Given the description of an element on the screen output the (x, y) to click on. 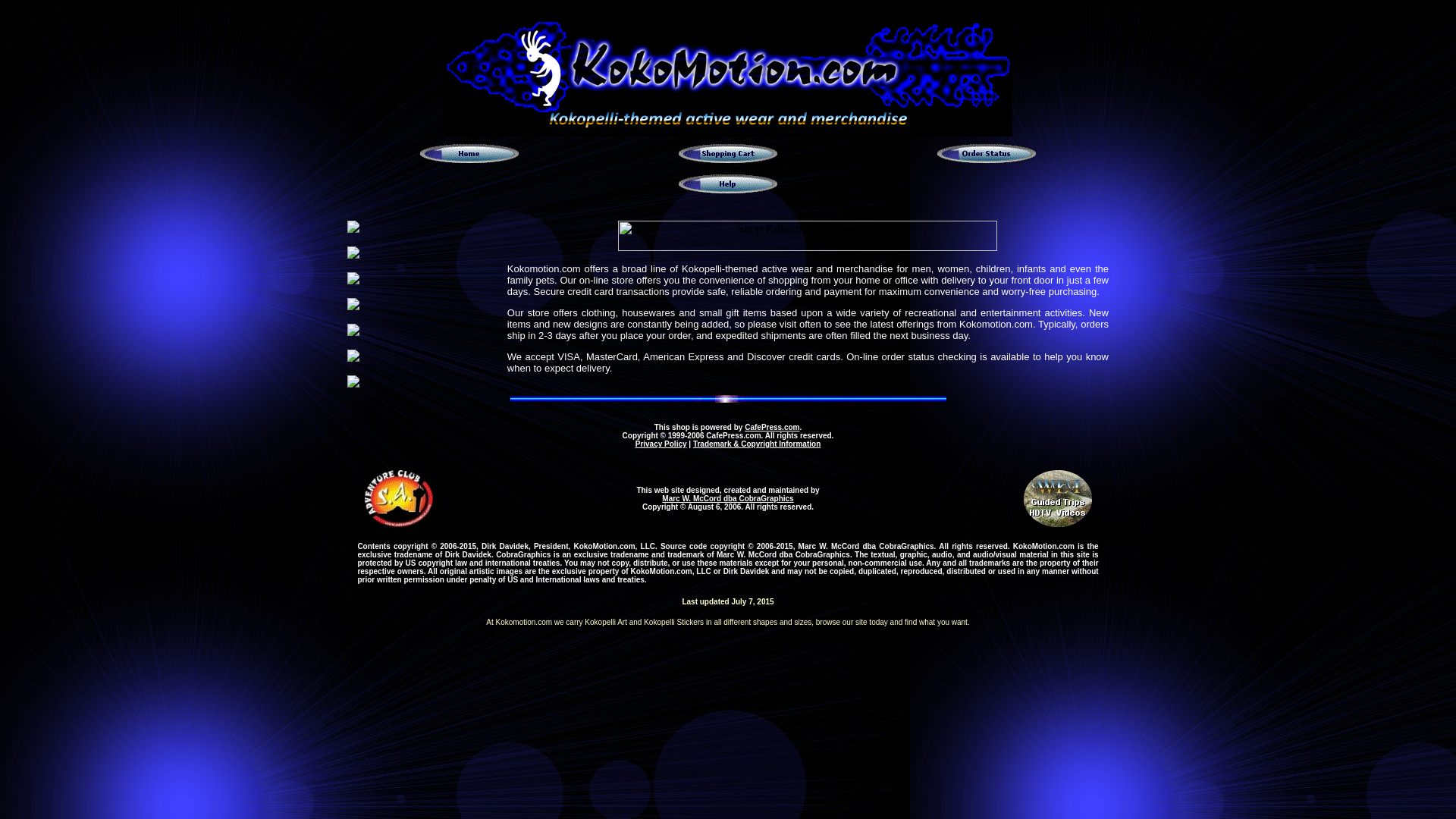
Privacy Policy (660, 443)
CafePress.com (771, 427)
Marc W. McCord dba CobraGraphics (727, 498)
